Given the description of an element on the screen output the (x, y) to click on. 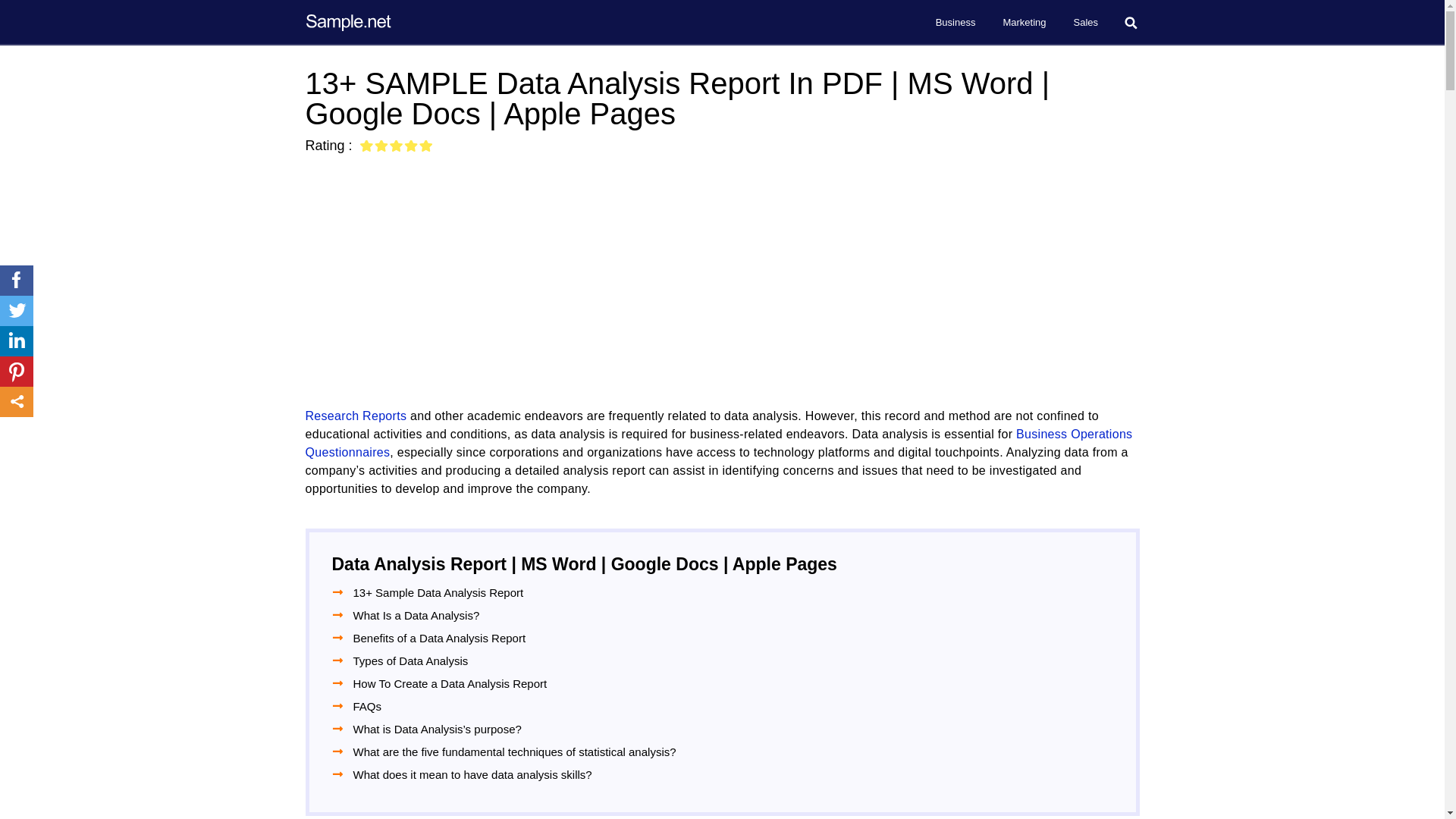
Research Reports (355, 415)
Benefits of a Data Analysis Report (439, 637)
What Is a Data Analysis? (416, 615)
Business Operations Questionnaires (718, 442)
Business (955, 22)
Marketing (1023, 22)
What does it mean to have data analysis skills? (472, 773)
How To Create a Data Analysis Report (450, 683)
